Given the description of an element on the screen output the (x, y) to click on. 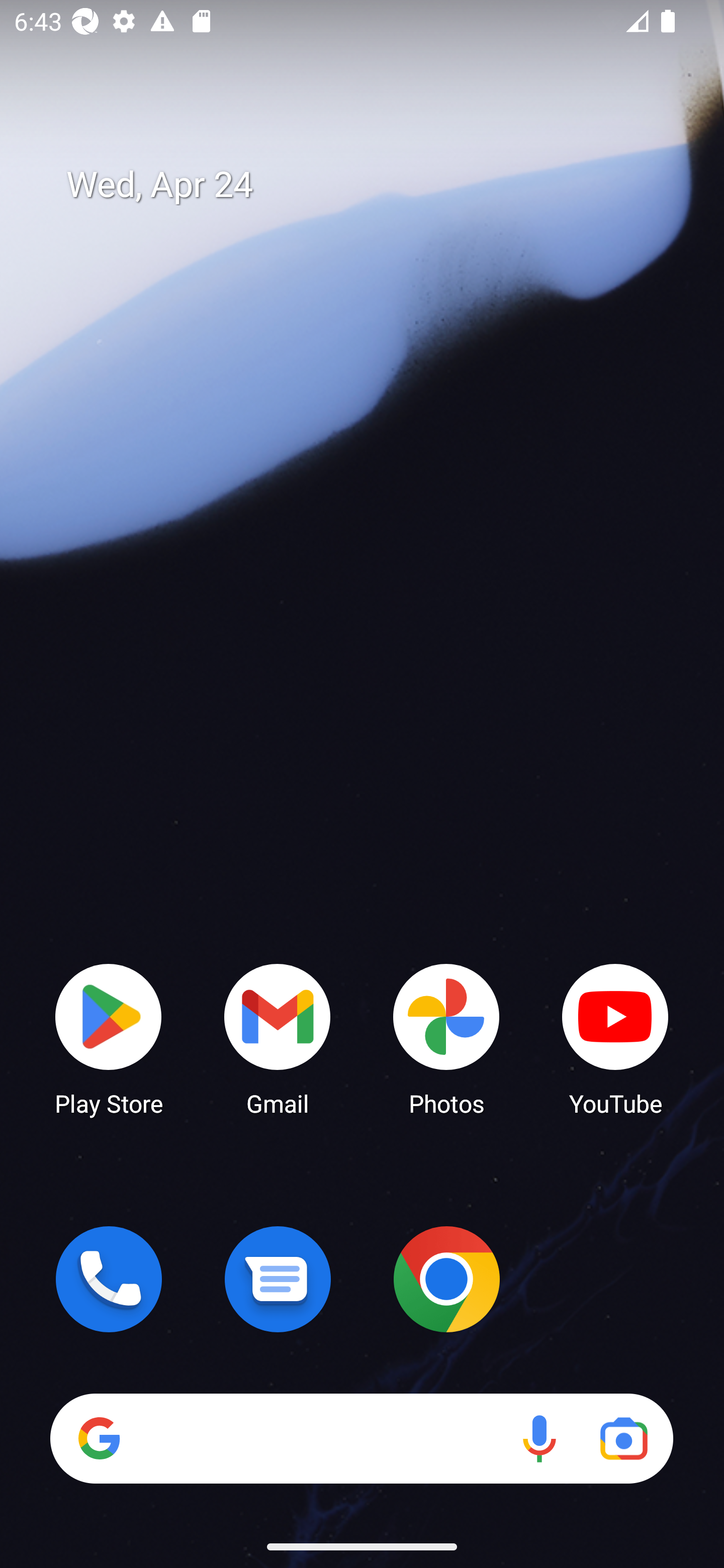
Wed, Apr 24 (375, 184)
Play Store (108, 1038)
Gmail (277, 1038)
Photos (445, 1038)
YouTube (615, 1038)
Phone (108, 1279)
Messages (277, 1279)
Chrome (446, 1279)
Search Voice search Google Lens (361, 1438)
Voice search (539, 1438)
Google Lens (623, 1438)
